Given the description of an element on the screen output the (x, y) to click on. 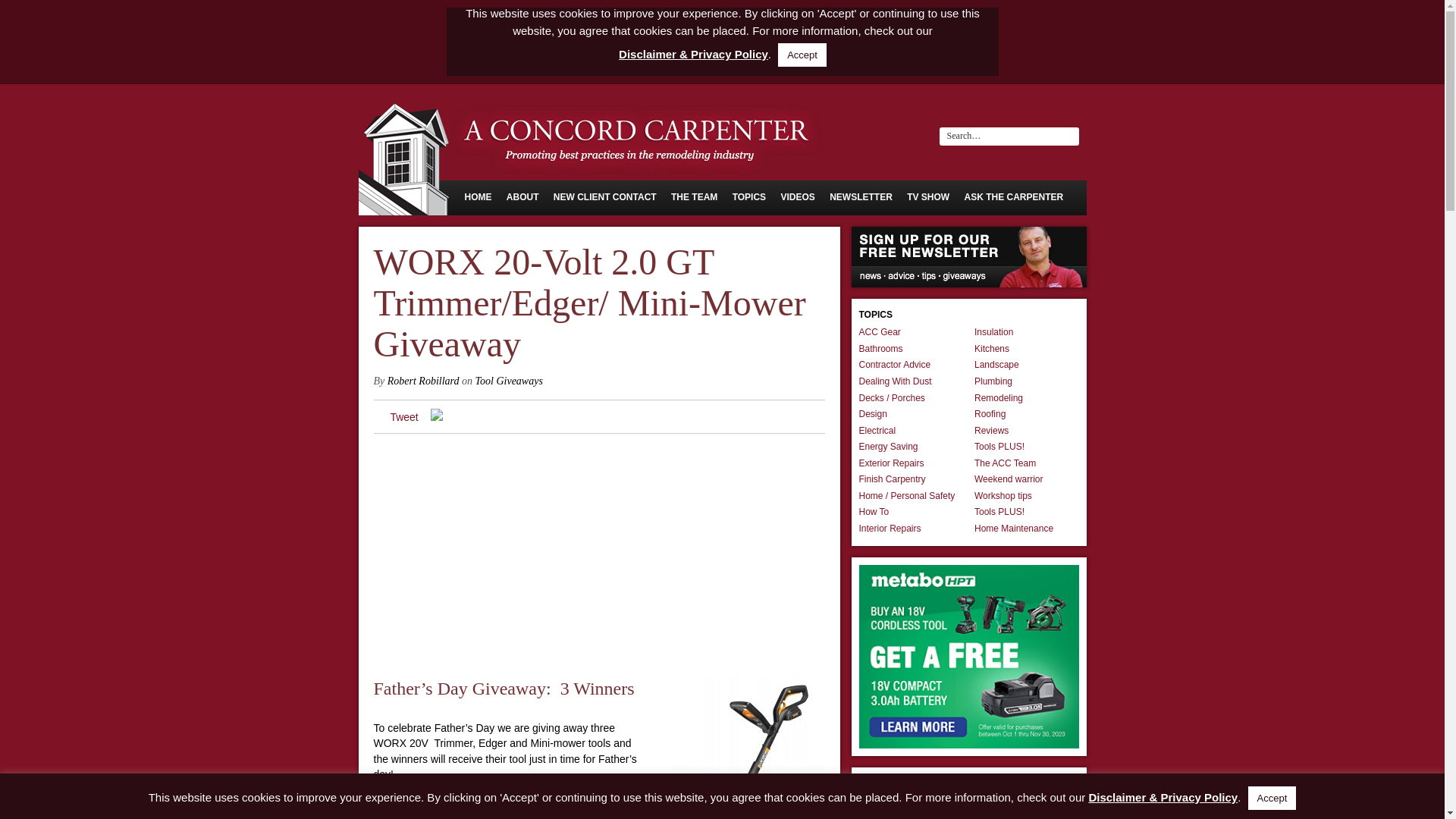
NEW CLIENT CONTACT (604, 196)
ASK THE CARPENTER (1013, 196)
HOME (478, 196)
Robert Robillard (423, 380)
Click Here to Find Answers to All Your Questions (1013, 196)
VIDEOS (796, 196)
TOPICS (748, 196)
Tweet (403, 417)
NEWSLETTER (860, 196)
TV SHOW (928, 196)
